Given the description of an element on the screen output the (x, y) to click on. 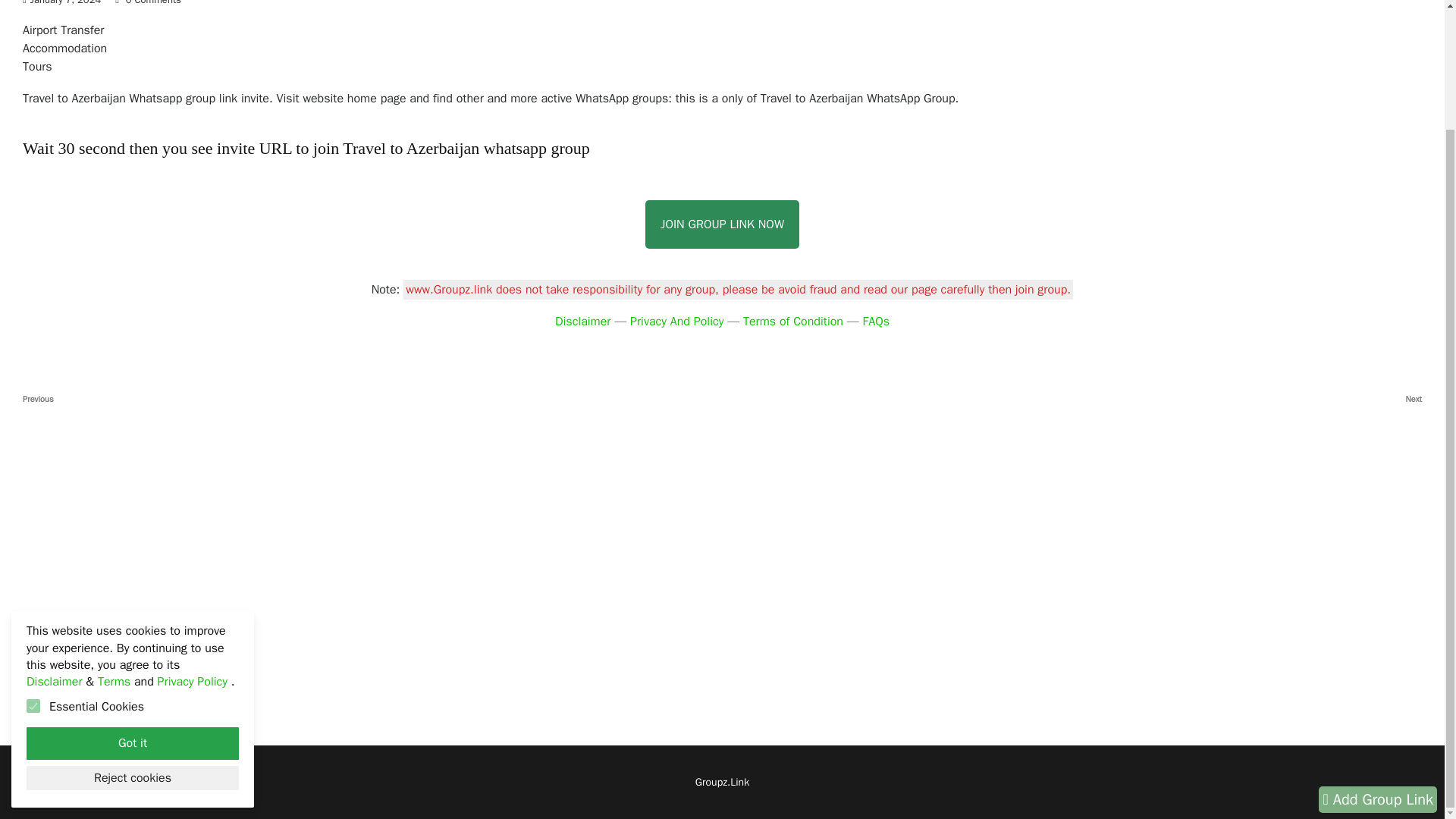
Add Group Link (1378, 655)
Terms (114, 538)
Privacy Policy (194, 538)
Got it (372, 399)
FAQs (132, 599)
Reject cookies (876, 321)
Groupz.Link (132, 634)
Add Group Link (1072, 399)
JOIN GROUP LINK NOW (722, 781)
Privacy And Policy (1378, 655)
Disclaimer (722, 223)
Terms of Condition (676, 321)
Disclaimer (582, 321)
